Given the description of an element on the screen output the (x, y) to click on. 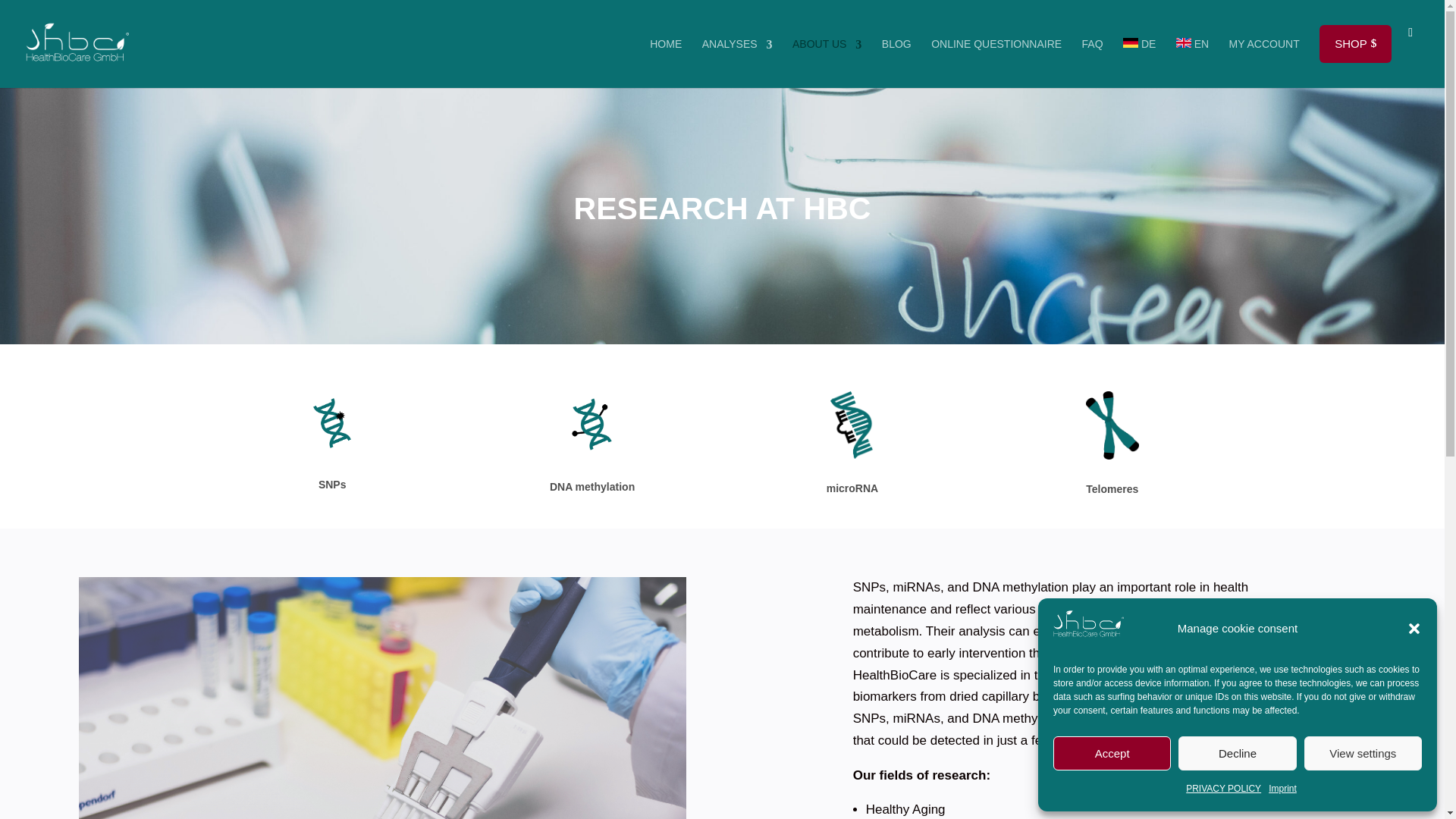
ABOUT US (826, 58)
footer-bild-neu3 (1111, 682)
Accept (1111, 753)
PRIVACY POLICY (1223, 789)
View settings (1363, 753)
SHOP (1355, 44)
ONLINE QUESTIONNAIRE (996, 58)
Follow on Facebook (821, 698)
Follow on Instagram (790, 698)
ANALYSES (737, 58)
Imprint (1282, 789)
Follow on LinkedIn (761, 698)
MY ACCOUNT (1264, 58)
Decline (1236, 753)
